Given the description of an element on the screen output the (x, y) to click on. 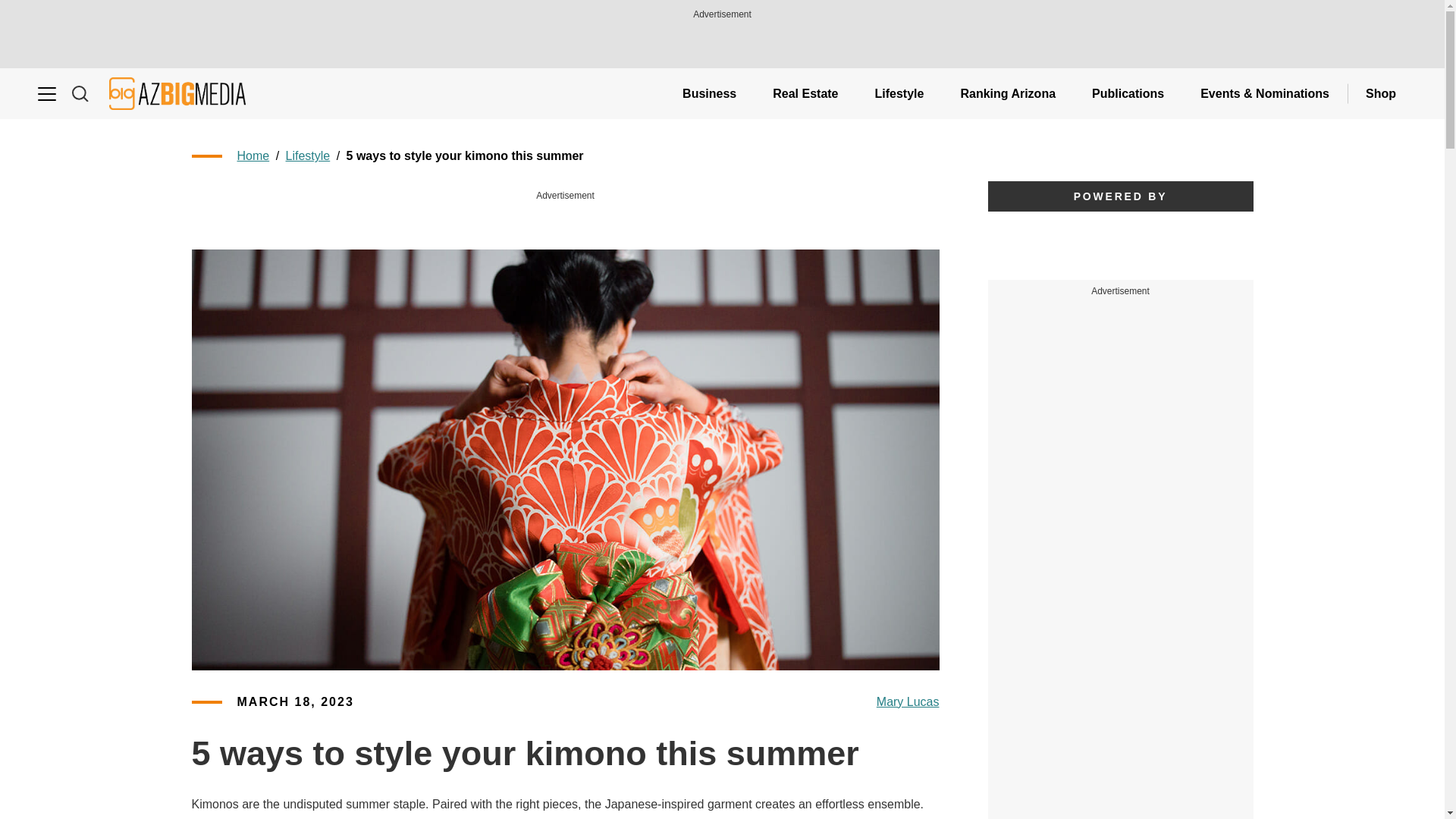
Posts by Mary Lucas (907, 702)
Business (708, 92)
AZ Big Media Logo (177, 92)
